Given the description of an element on the screen output the (x, y) to click on. 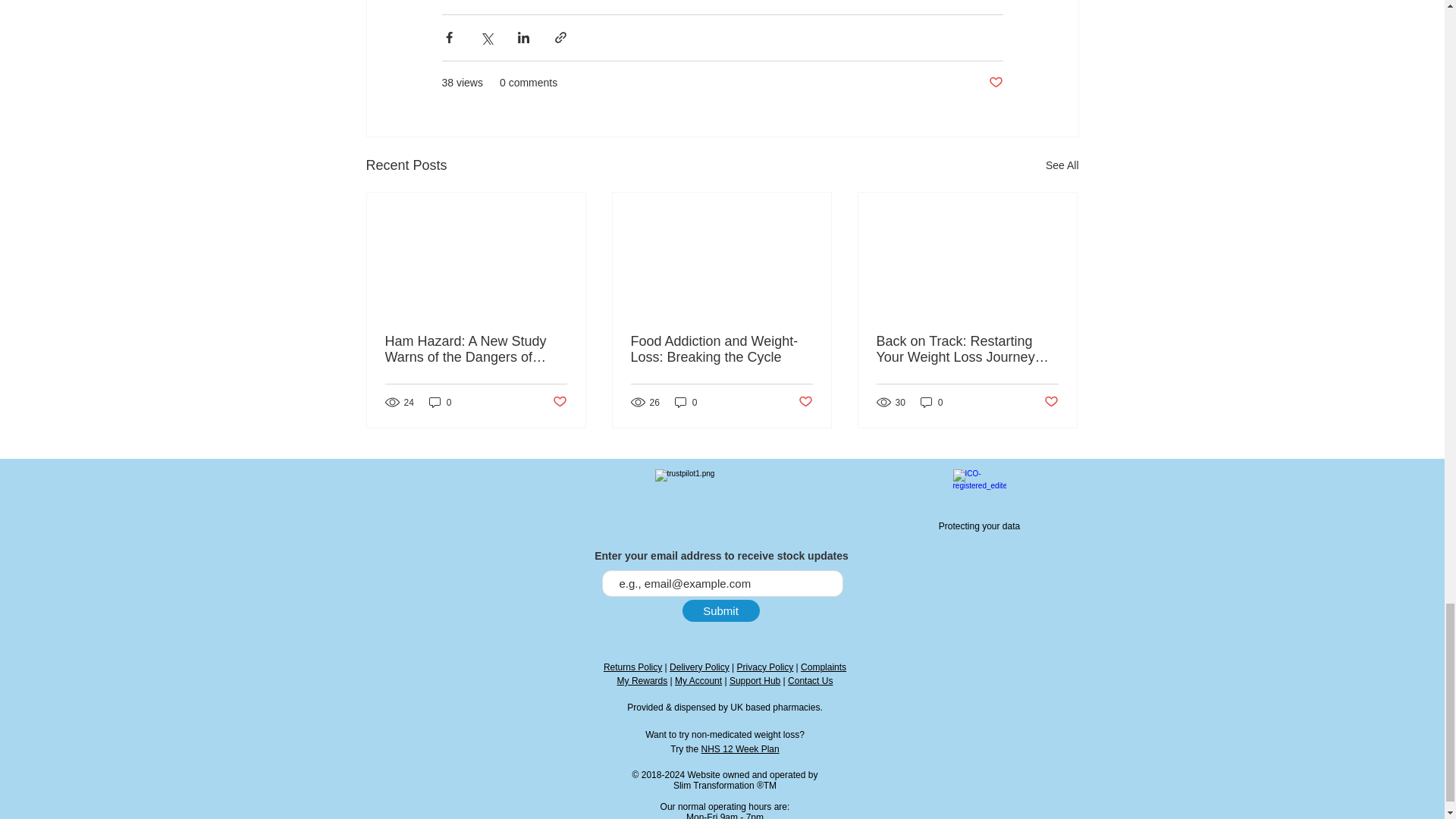
0 (440, 401)
Post not marked as liked (995, 82)
See All (1061, 165)
